Given the description of an element on the screen output the (x, y) to click on. 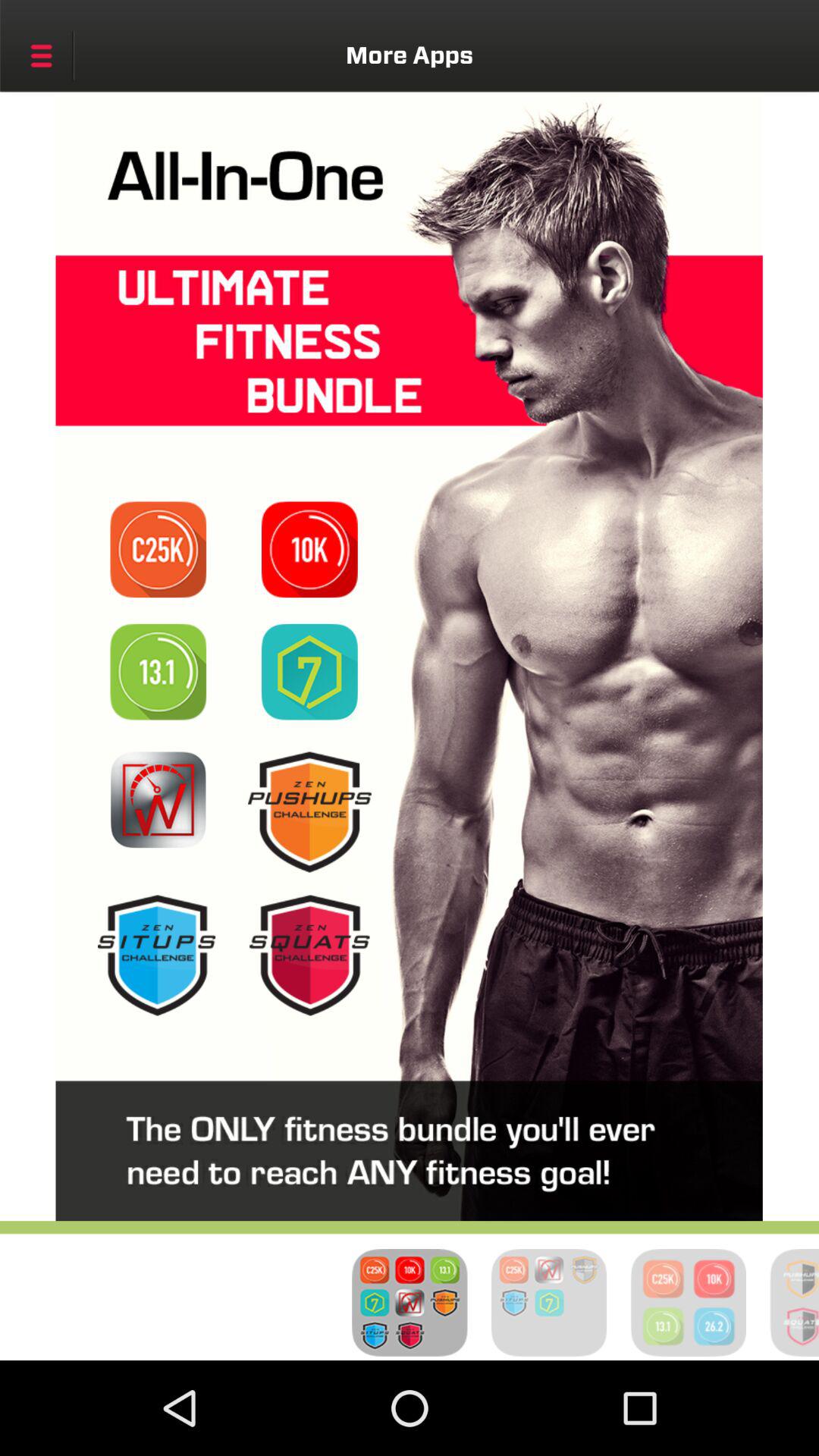
select pushups (309, 811)
